Given the description of an element on the screen output the (x, y) to click on. 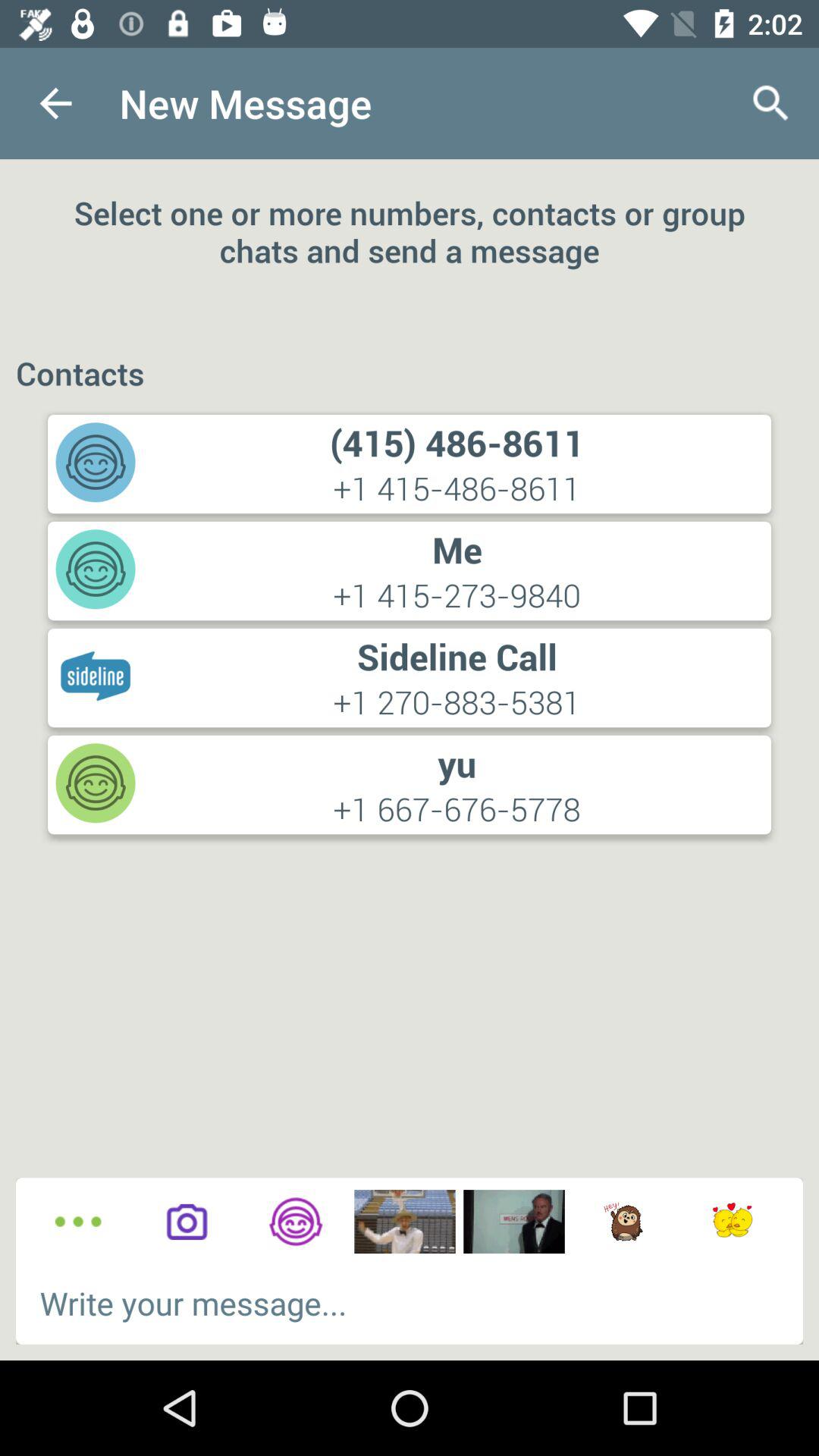
upload a photo (186, 1221)
